Given the description of an element on the screen output the (x, y) to click on. 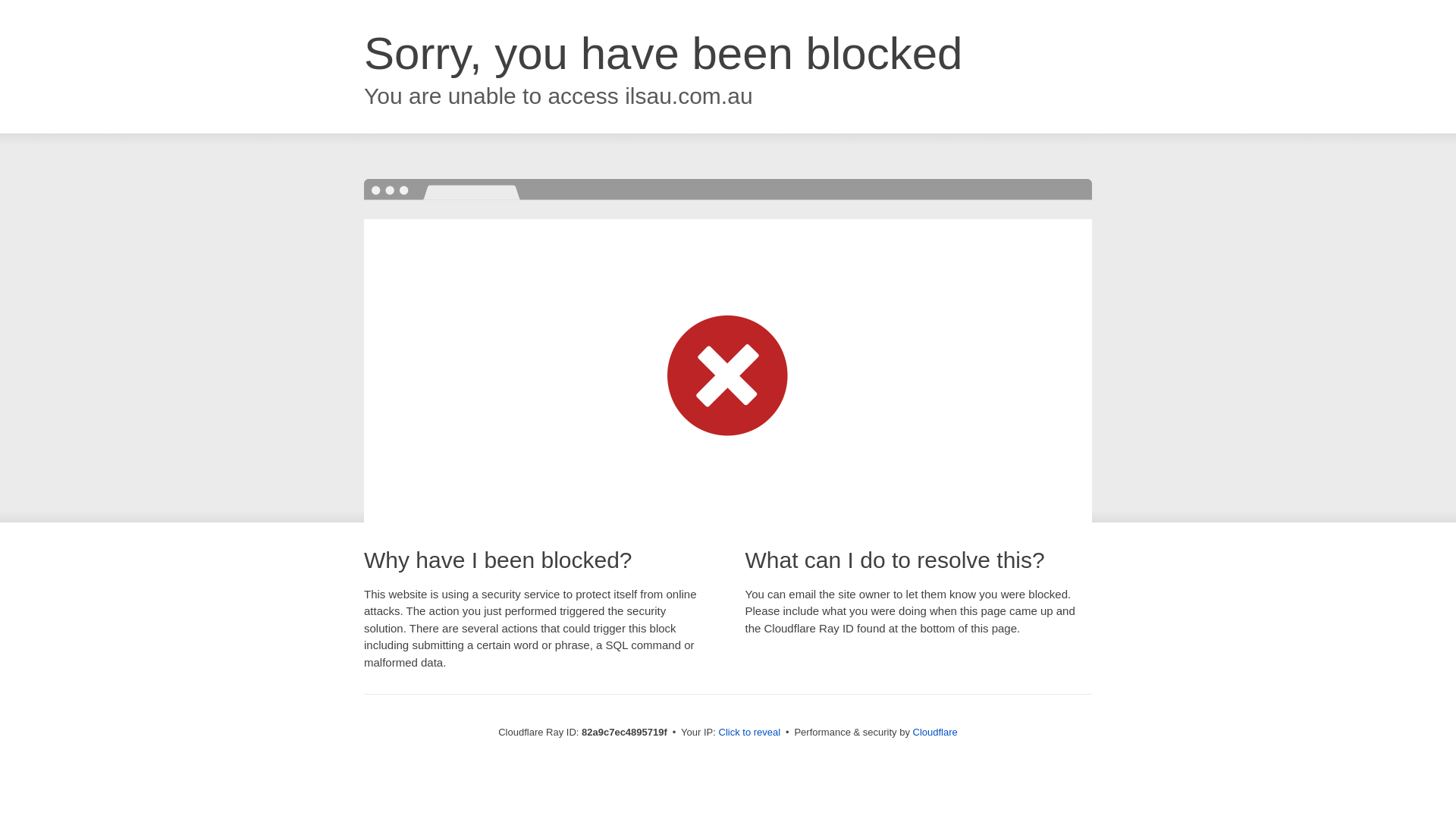
Cloudflare Element type: text (935, 731)
Click to reveal Element type: text (749, 732)
